Given the description of an element on the screen output the (x, y) to click on. 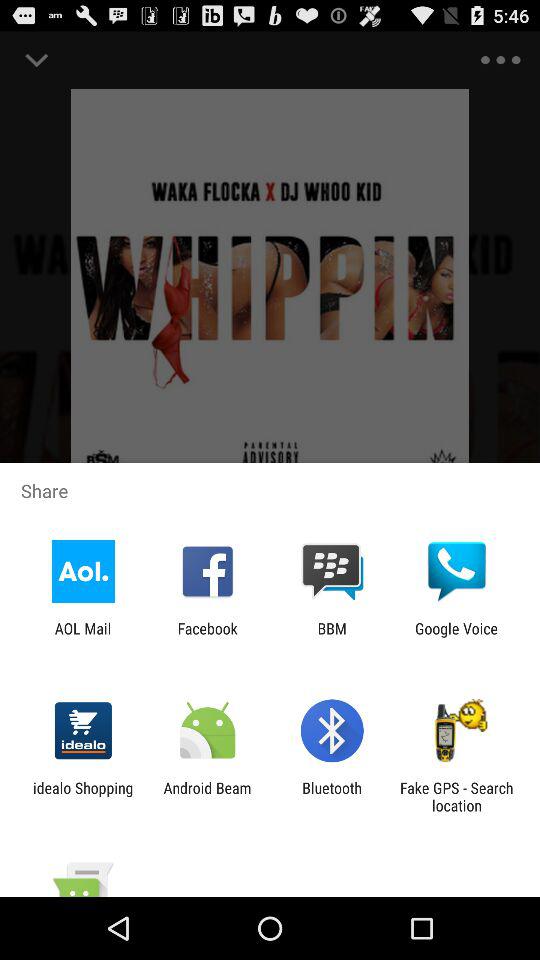
open the android beam app (207, 796)
